Given the description of an element on the screen output the (x, y) to click on. 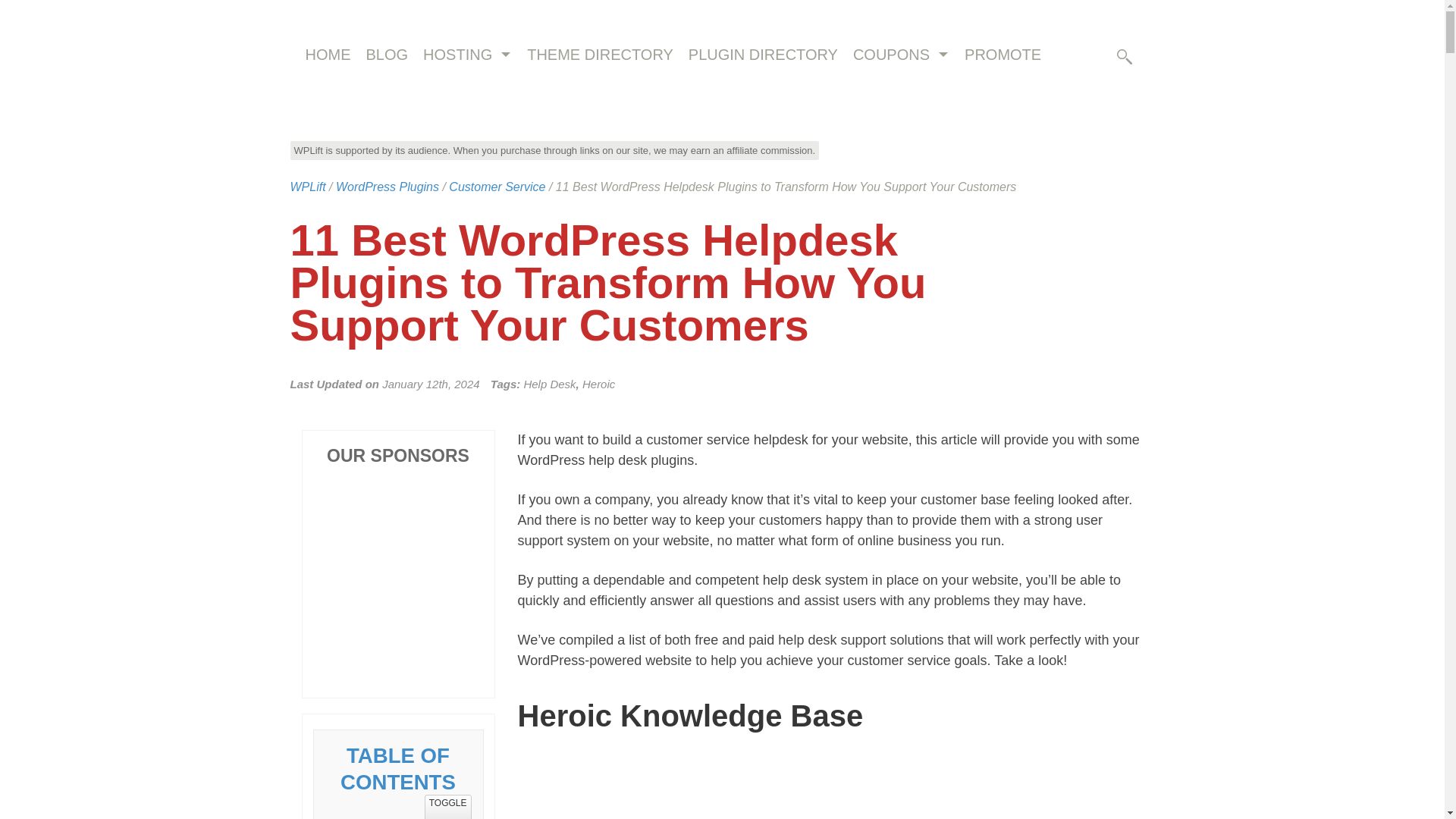
WPLift (306, 186)
Home (328, 54)
Help Desk (548, 383)
Blog (387, 54)
HOSTING (457, 54)
Theme Directory (599, 54)
Hosting (457, 54)
Search (1126, 113)
PLUGIN DIRECTORY (762, 54)
Heroic (598, 383)
Promote (1002, 54)
PROMOTE (1002, 54)
Plugin Directory (762, 54)
HOME (328, 54)
Coupons (890, 54)
